Given the description of an element on the screen output the (x, y) to click on. 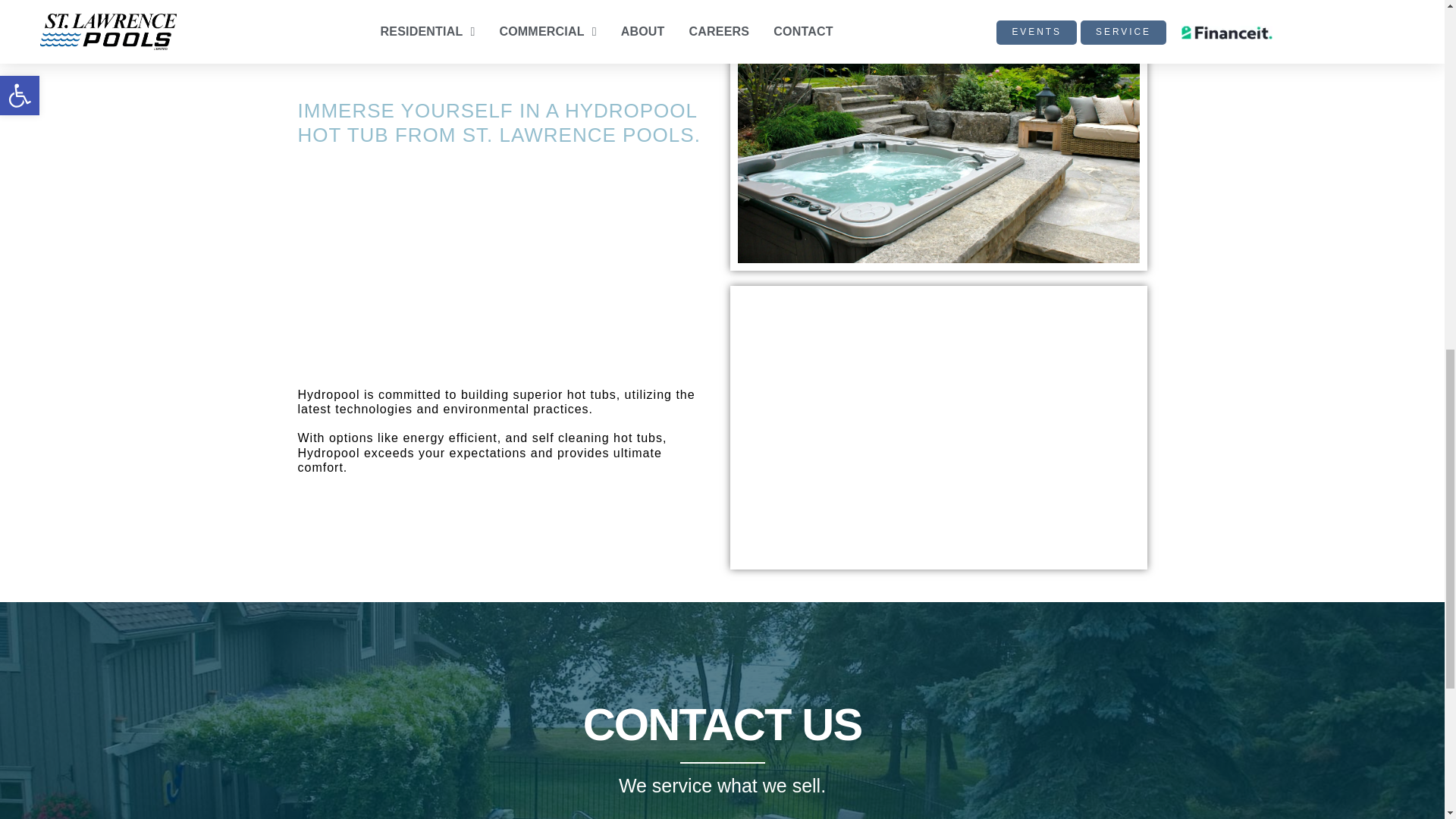
Hydropool 7 (722, 662)
Hydropool 6 (938, 426)
Hydropool 5 (938, 128)
